Given the description of an element on the screen output the (x, y) to click on. 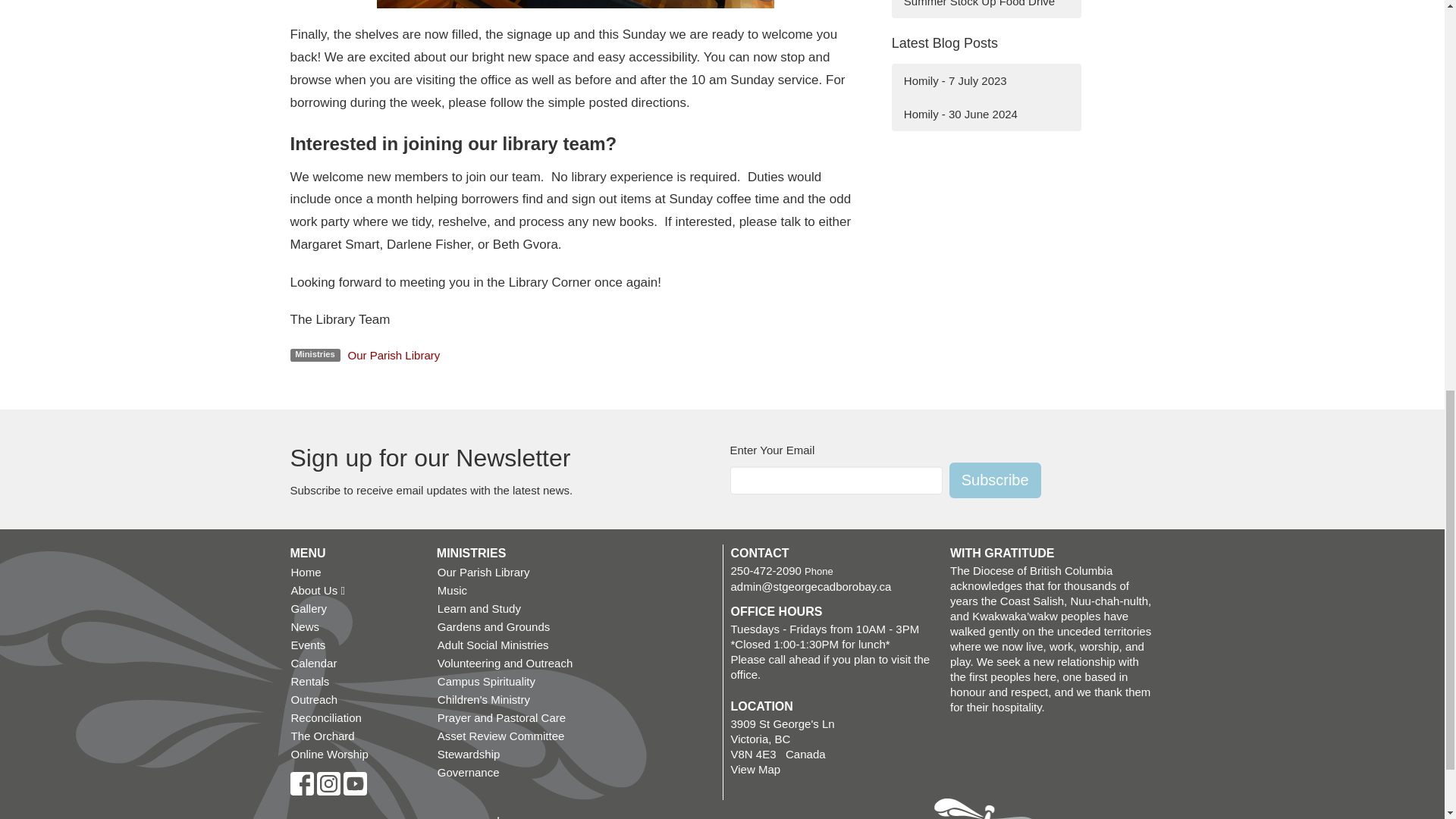
Youtube Icon (354, 783)
Instagram Icon (328, 783)
Homily - 7 July 2023 (986, 80)
Latest Blog Posts (944, 43)
Our Parish Library (394, 354)
Facebook Icon (301, 783)
Shelbourne Community Kitchen Summer Stock Up Food Drive (986, 9)
